Given the description of an element on the screen output the (x, y) to click on. 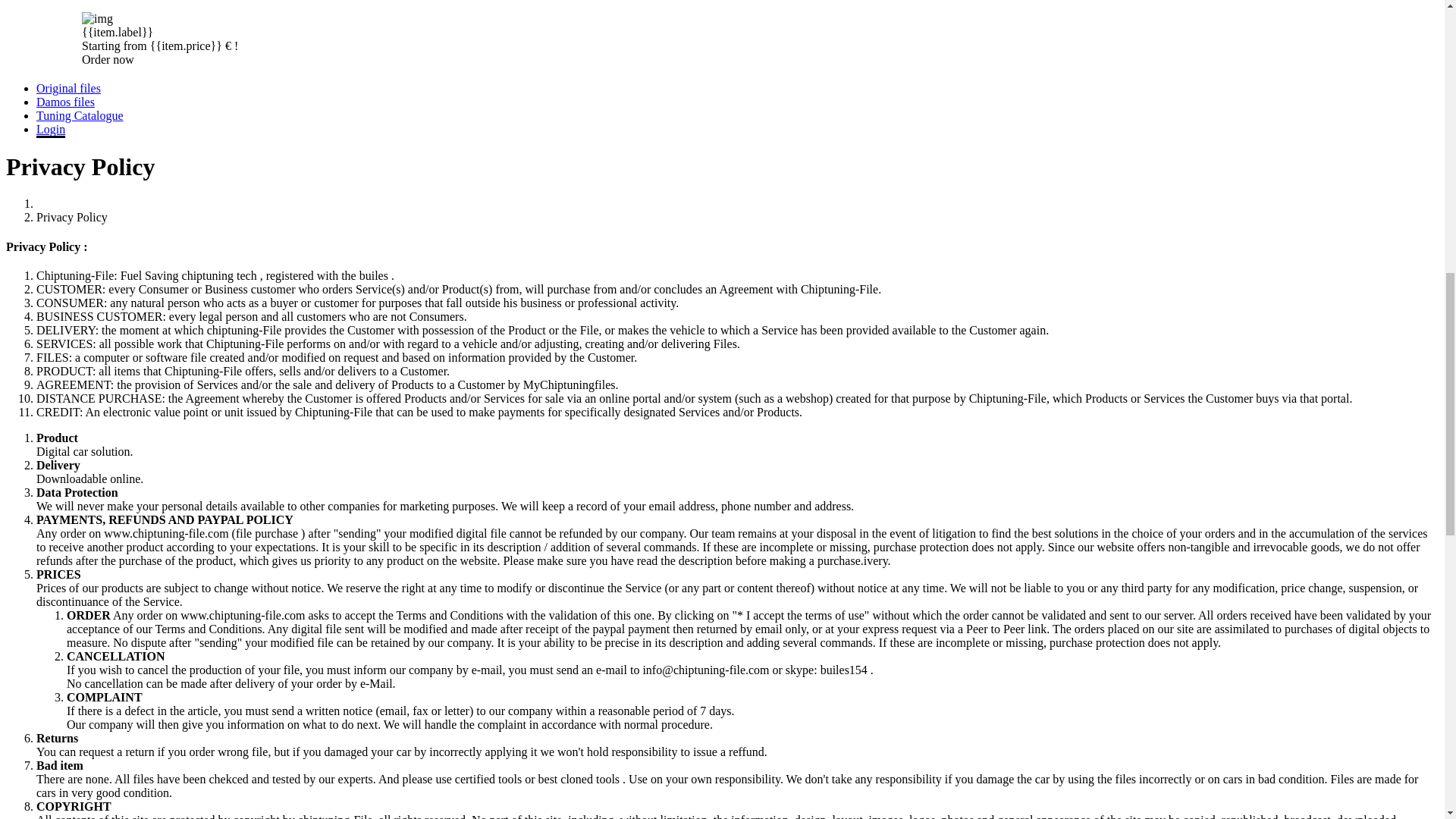
Original files (68, 88)
Order now (107, 59)
